Given the description of an element on the screen output the (x, y) to click on. 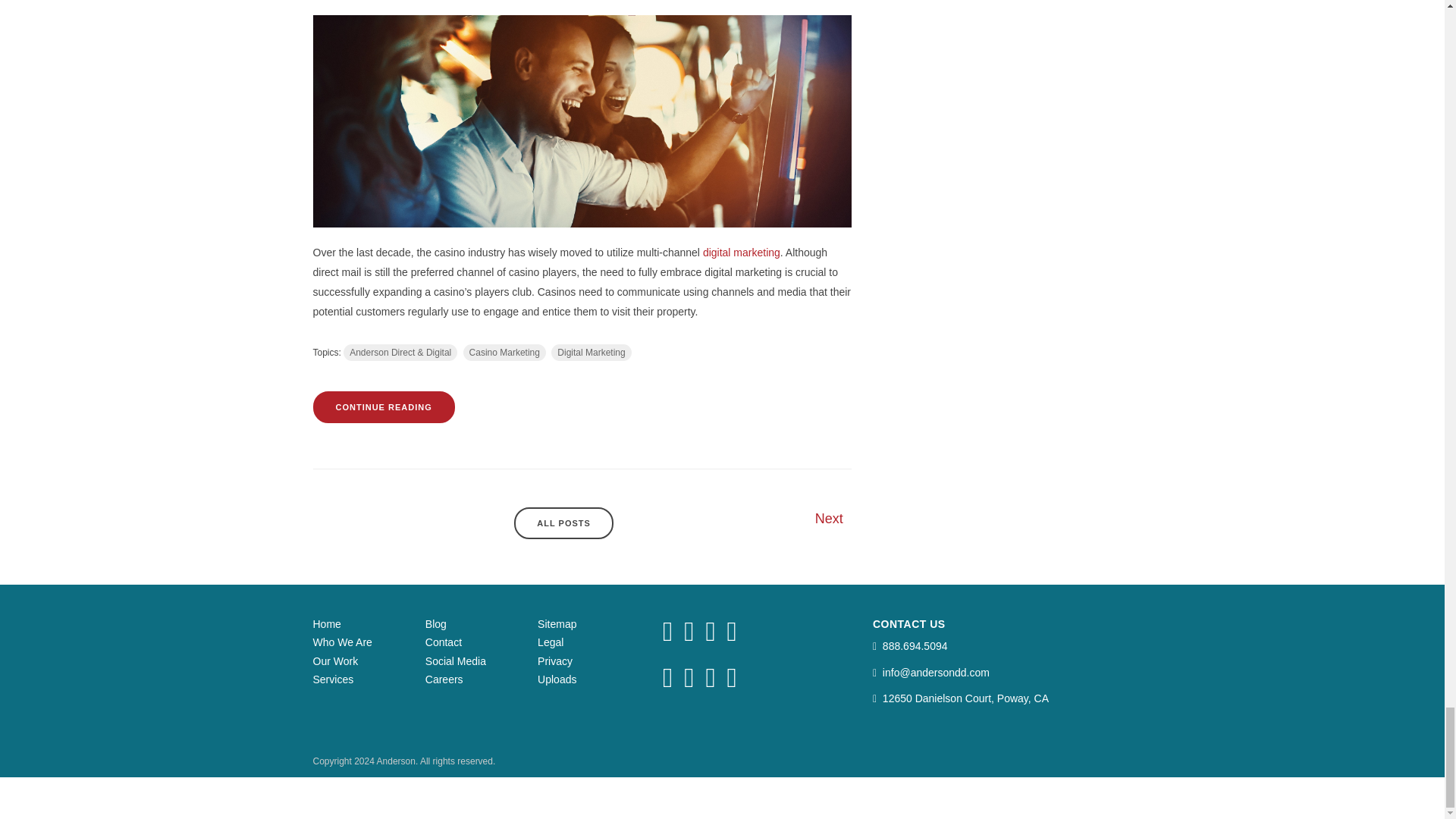
Home (326, 623)
Our Work (335, 660)
Contact (443, 642)
Social Media (455, 660)
Services (333, 679)
Blog (435, 623)
Careers (444, 679)
Who We Are (342, 642)
